Given the description of an element on the screen output the (x, y) to click on. 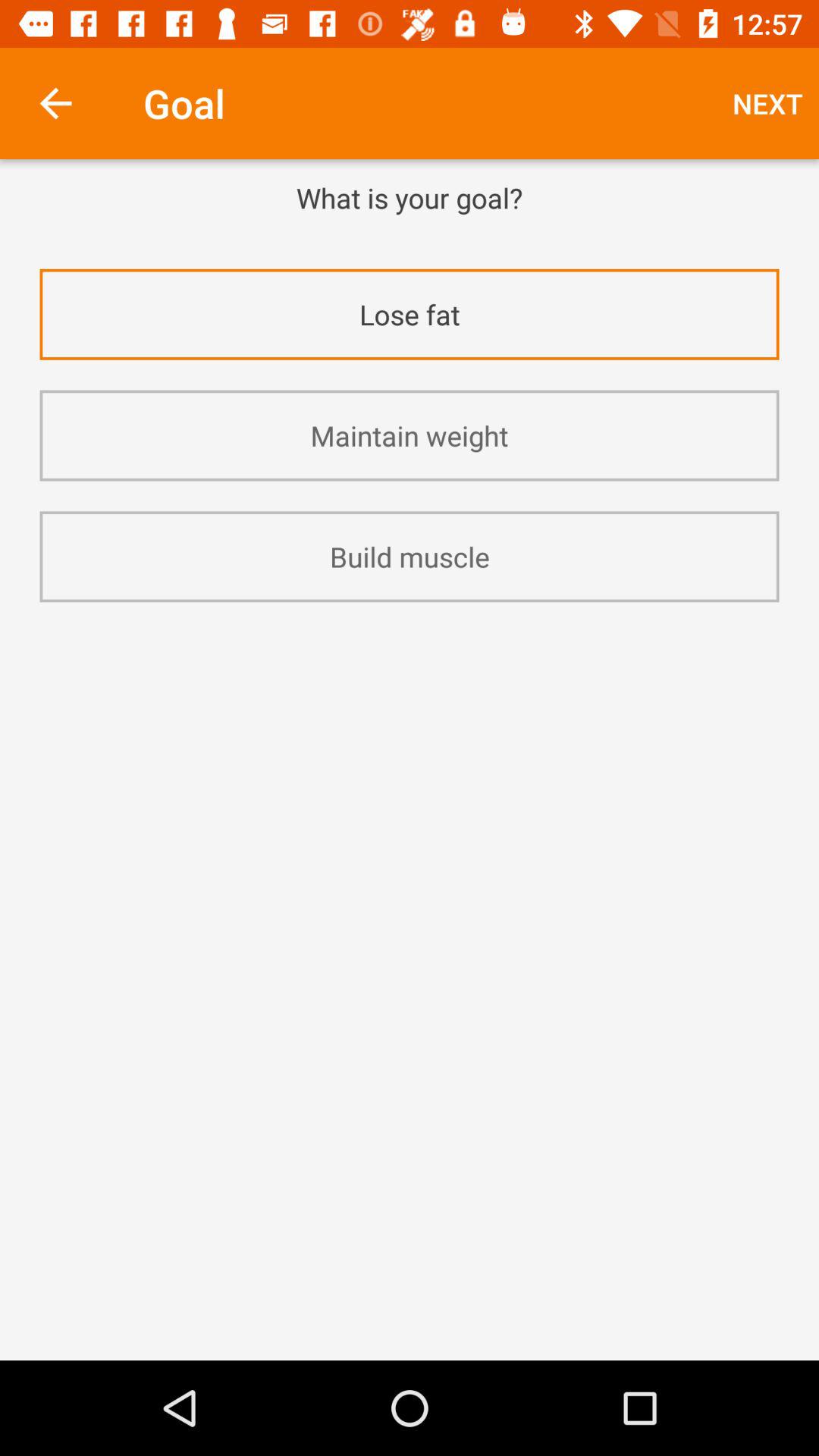
turn on the next at the top right corner (767, 103)
